Given the description of an element on the screen output the (x, y) to click on. 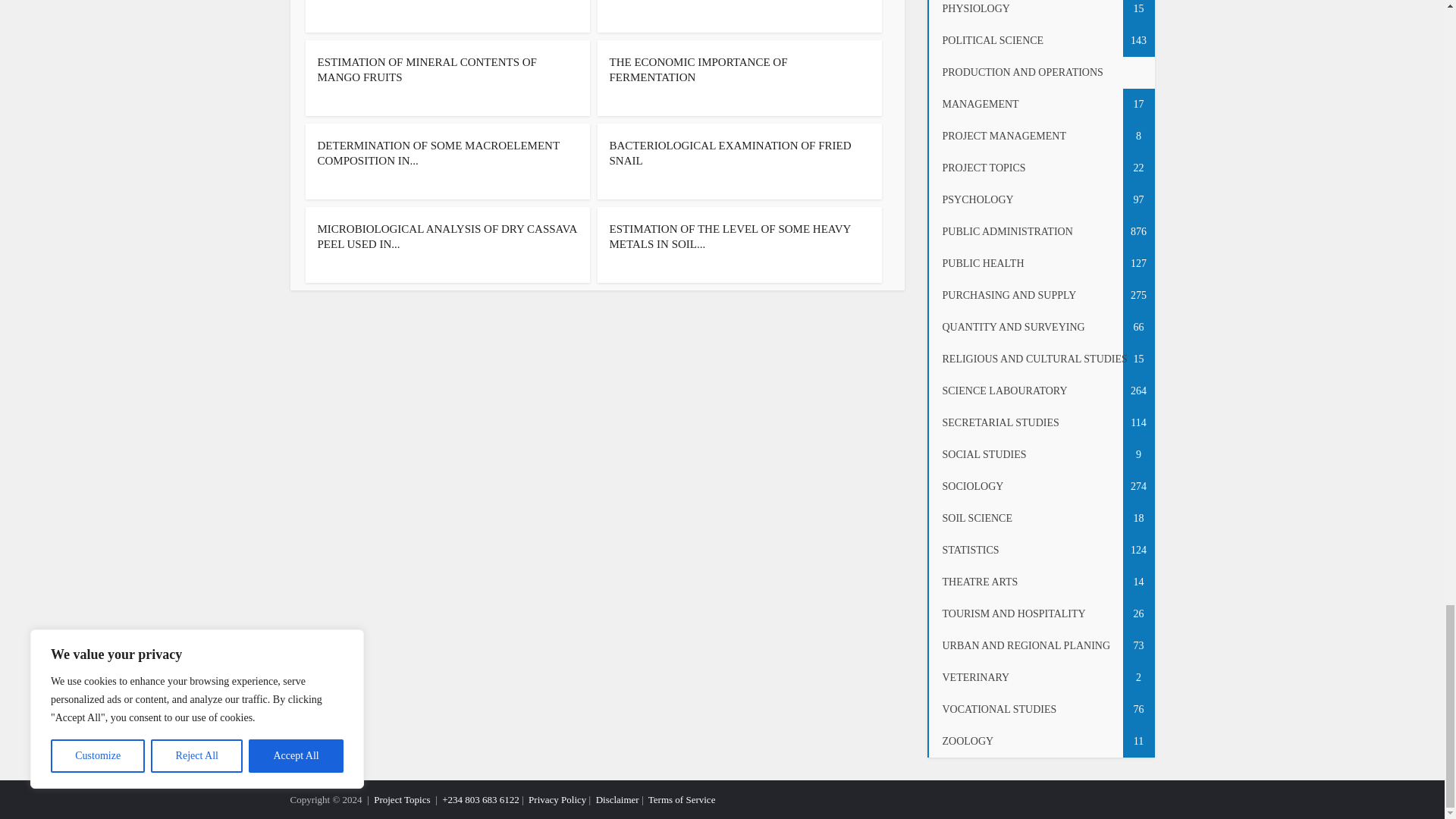
ESTIMATION OF MINERAL CONTENTS OF MANGO FRUITS (426, 69)
BACTERIOLOGICAL EXAMINATION OF FRIED SNAIL (730, 153)
THE ECONOMIC IMPORTANCE OF FERMENTATION (698, 69)
